Given the description of an element on the screen output the (x, y) to click on. 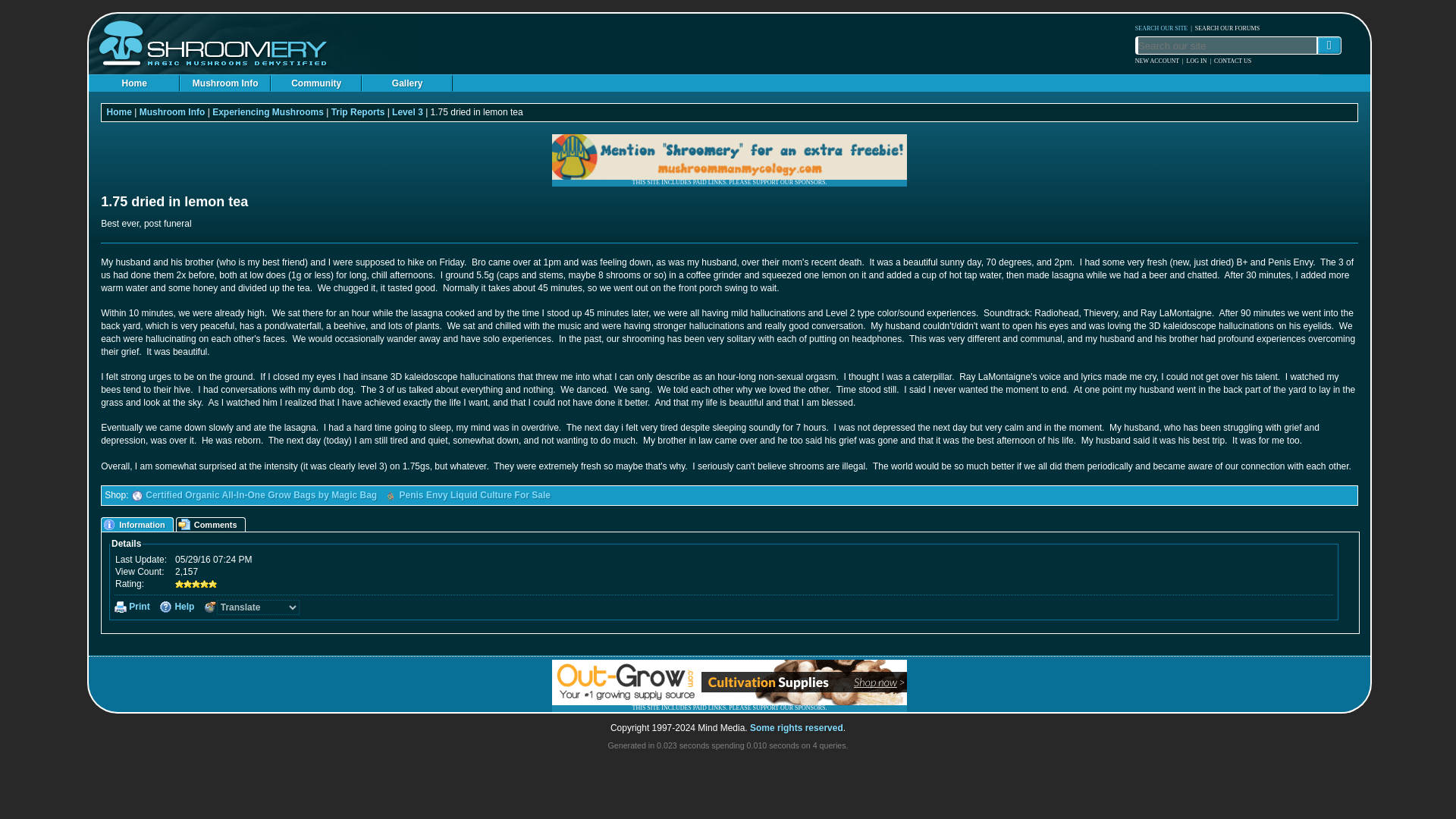
SEARCH OUR FORUMS (1227, 27)
CONTACT US (1232, 60)
NEW ACCOUNT (1157, 60)
Home (133, 83)
MagicBag.co (136, 495)
SEARCH OUR SITE (1161, 27)
Myyco.com (390, 495)
View information about this resource. (138, 524)
MushroomMan Mycology (729, 156)
Mushroom Info (224, 83)
Read and post comments on this resource. (211, 524)
LOG IN (1196, 60)
